Given the description of an element on the screen output the (x, y) to click on. 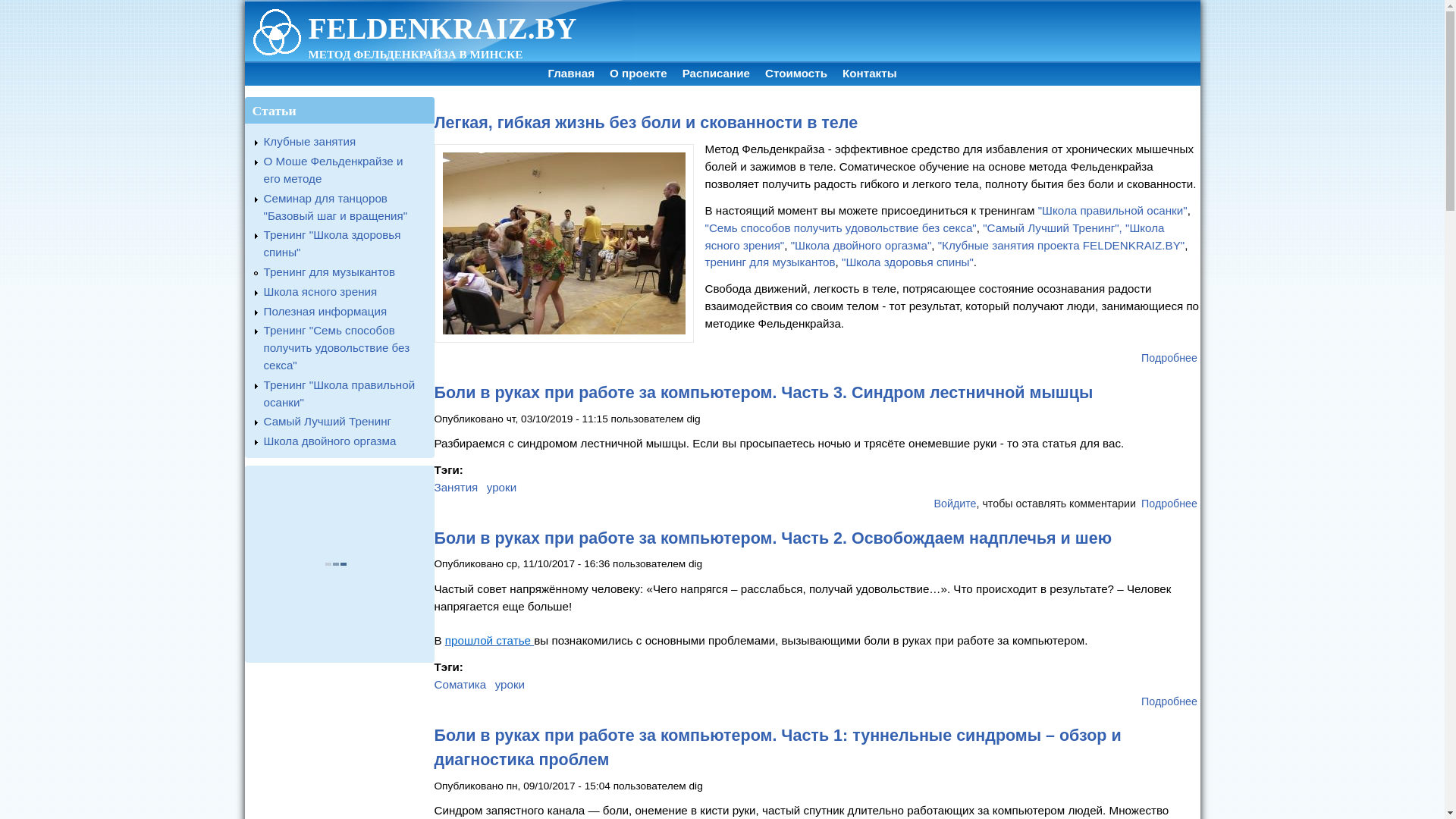
FELDENKRAIZ.BY Element type: text (441, 28)
